Given the description of an element on the screen output the (x, y) to click on. 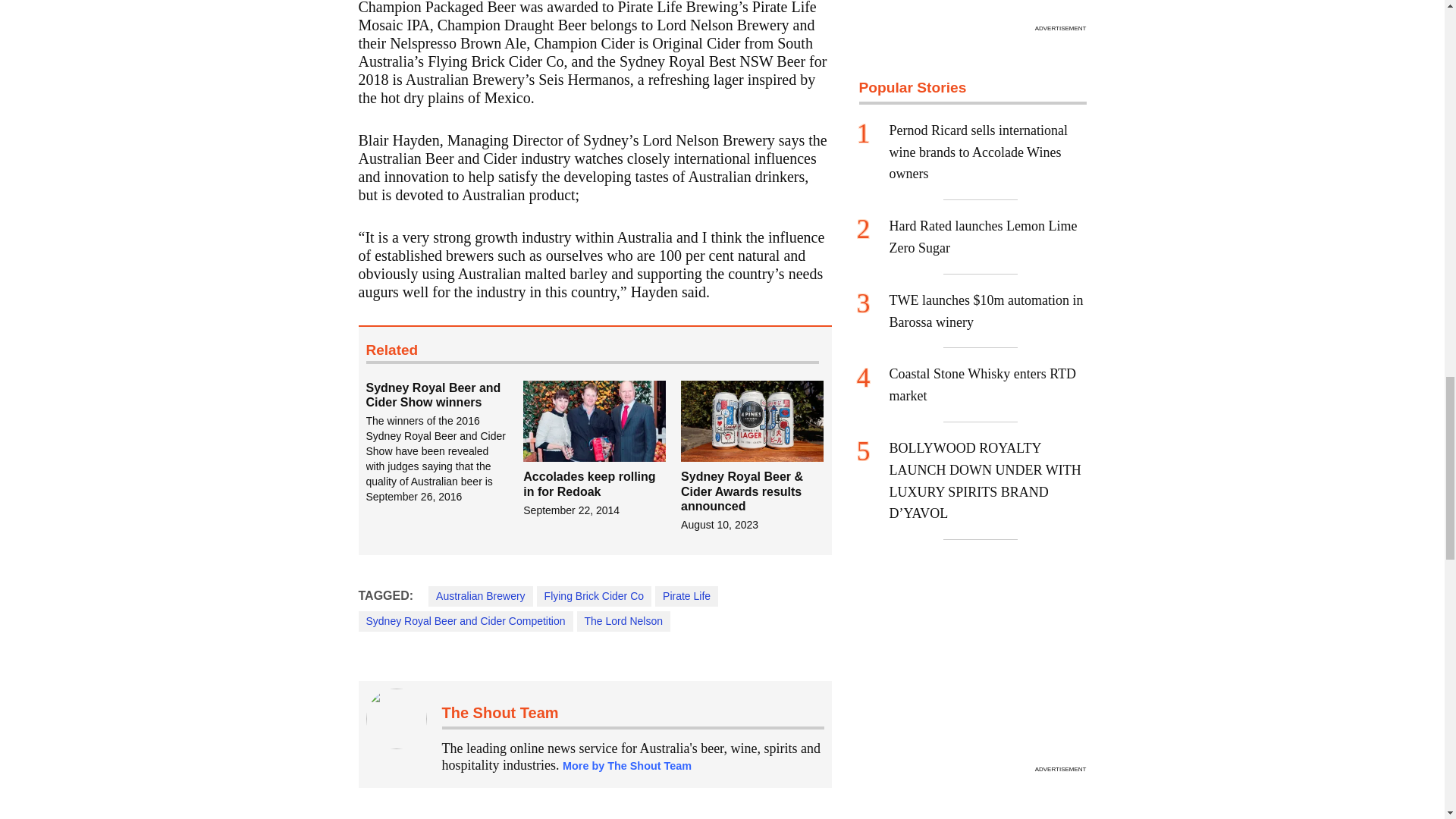
3rd party ad content (972, 665)
3rd party ad content (972, 9)
Accolades keep rolling in for Redoak (593, 420)
Sydney Royal Beer and Cider Show winners (443, 442)
Sydney Royal Beer and Cider Show winners (432, 394)
Accolades keep rolling in for Redoak (588, 483)
